Given the description of an element on the screen output the (x, y) to click on. 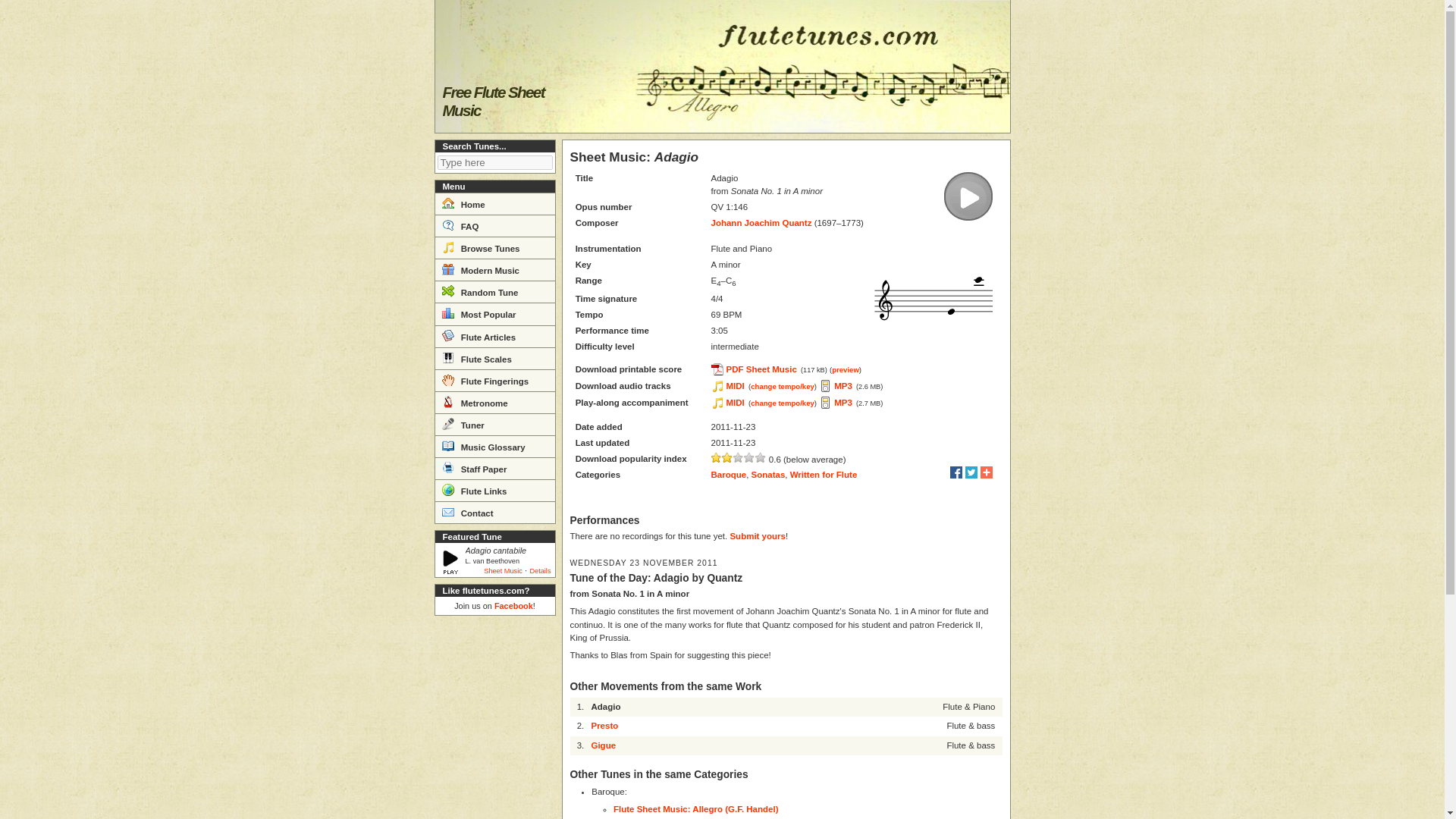
Share... (985, 472)
Written for Flute (823, 474)
MP3 (835, 402)
FAQ (494, 225)
Flute Scales (494, 358)
MIDI (728, 386)
Share on Facebook (956, 472)
Flute Fingerings (494, 380)
Browse Tunes (494, 247)
Metronome (494, 402)
Most Popular (494, 313)
Sheet Music (502, 570)
Random Tune (494, 291)
MIDI (728, 402)
Contact (494, 512)
